Given the description of an element on the screen output the (x, y) to click on. 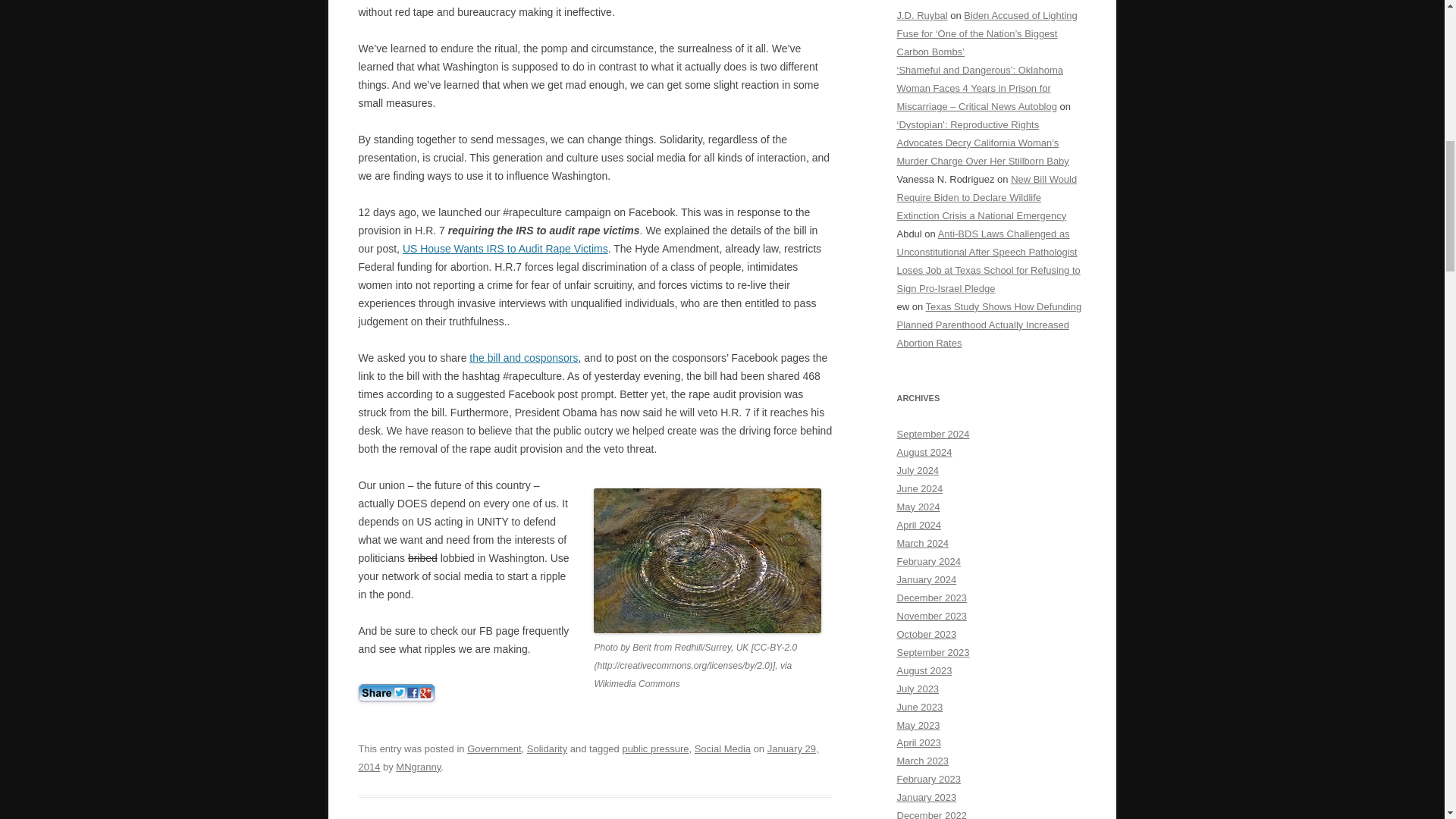
bill and cosponsors (523, 357)
January 29, 2014 (588, 757)
Government (494, 748)
US House Wants IRS to Audit Rape Victims (505, 248)
August 2024 (924, 451)
7:34 am (588, 757)
public pressure (654, 748)
September 2024 (932, 433)
